Given the description of an element on the screen output the (x, y) to click on. 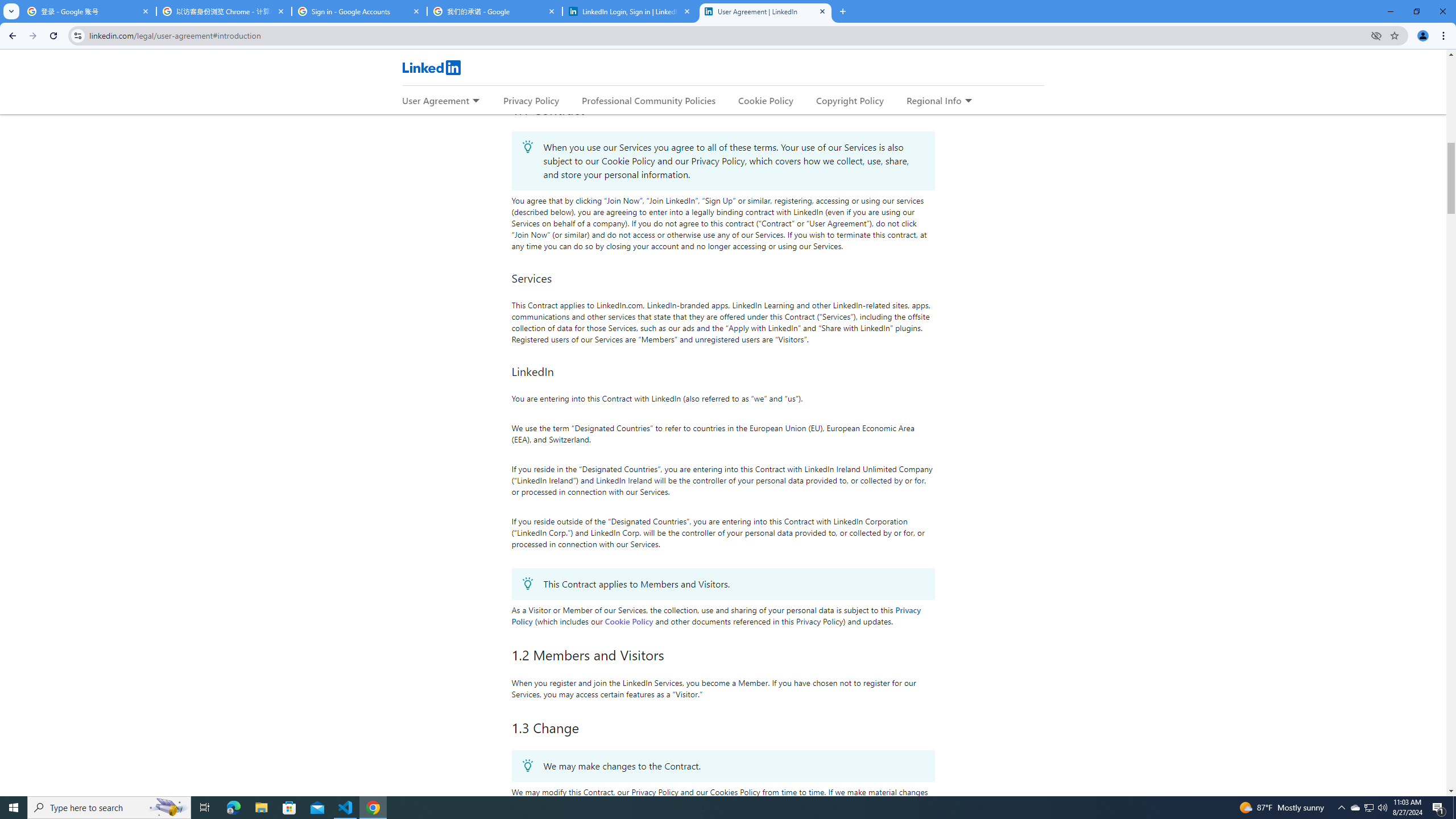
Expand to show more links for User Agreement (475, 101)
User Agreement | LinkedIn (765, 11)
